Given the description of an element on the screen output the (x, y) to click on. 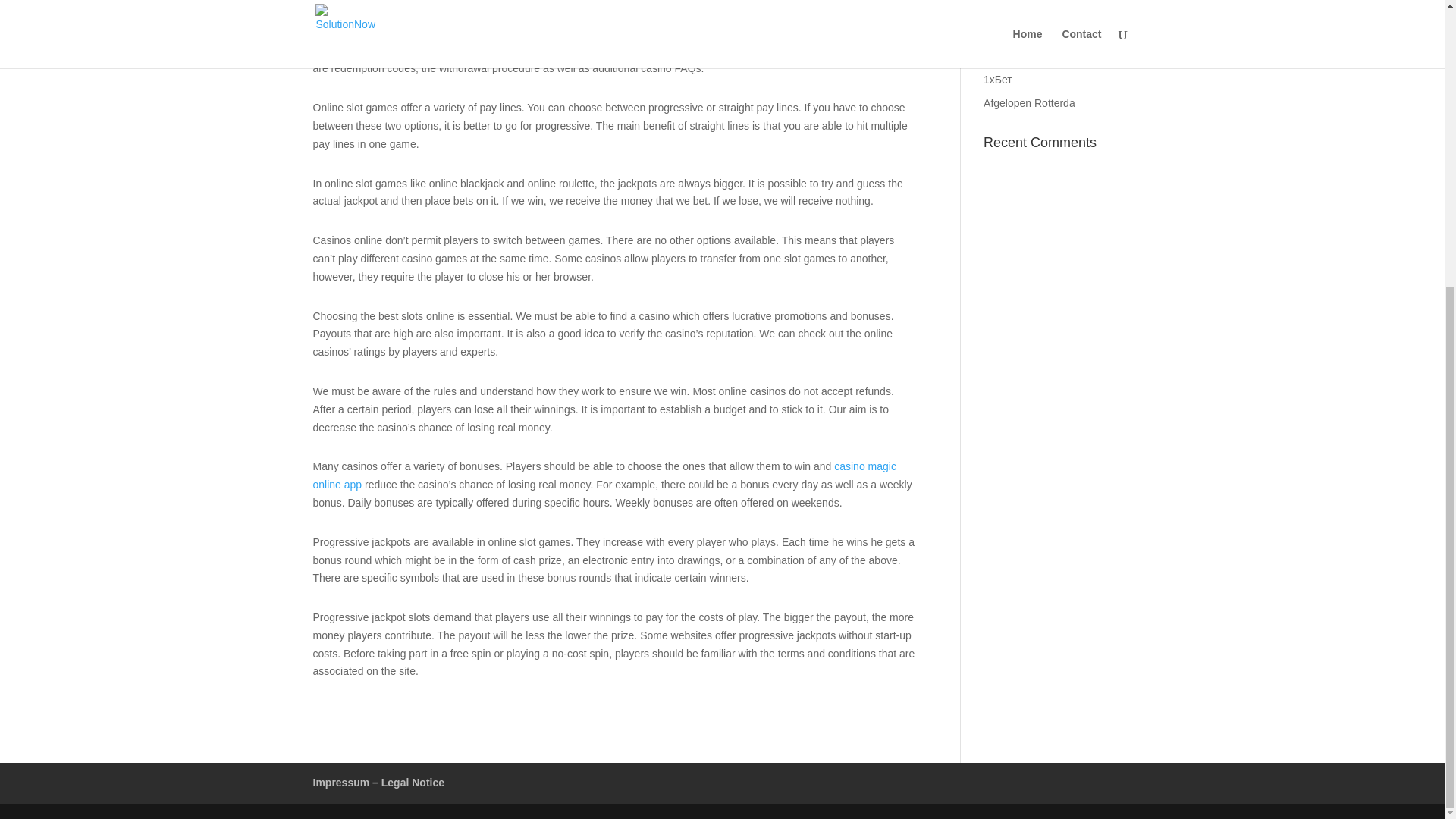
Afgelopen Rotterda (1029, 102)
casino magic online app (604, 475)
